Given the description of an element on the screen output the (x, y) to click on. 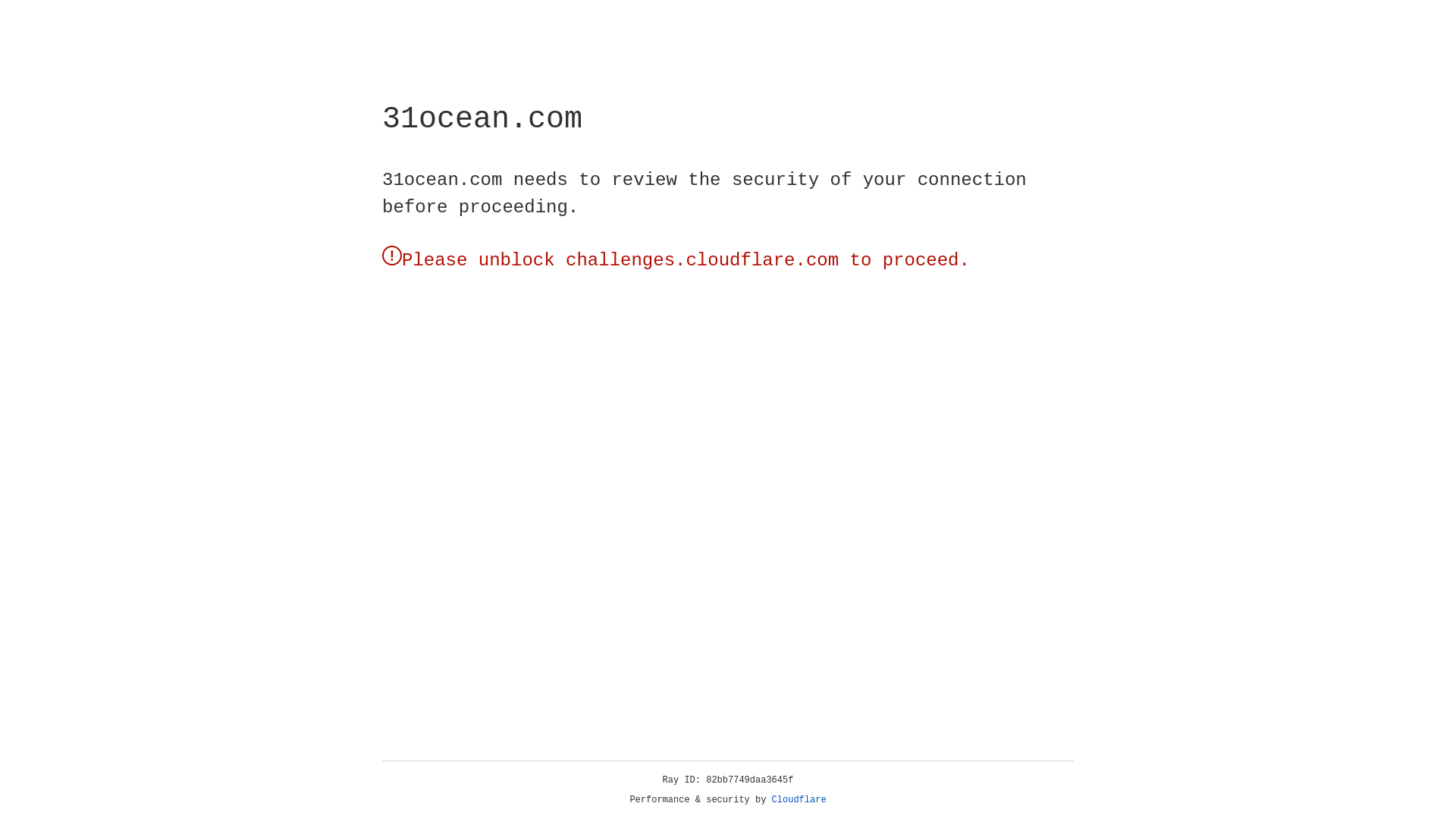
Cloudflare Element type: text (798, 799)
